Given the description of an element on the screen output the (x, y) to click on. 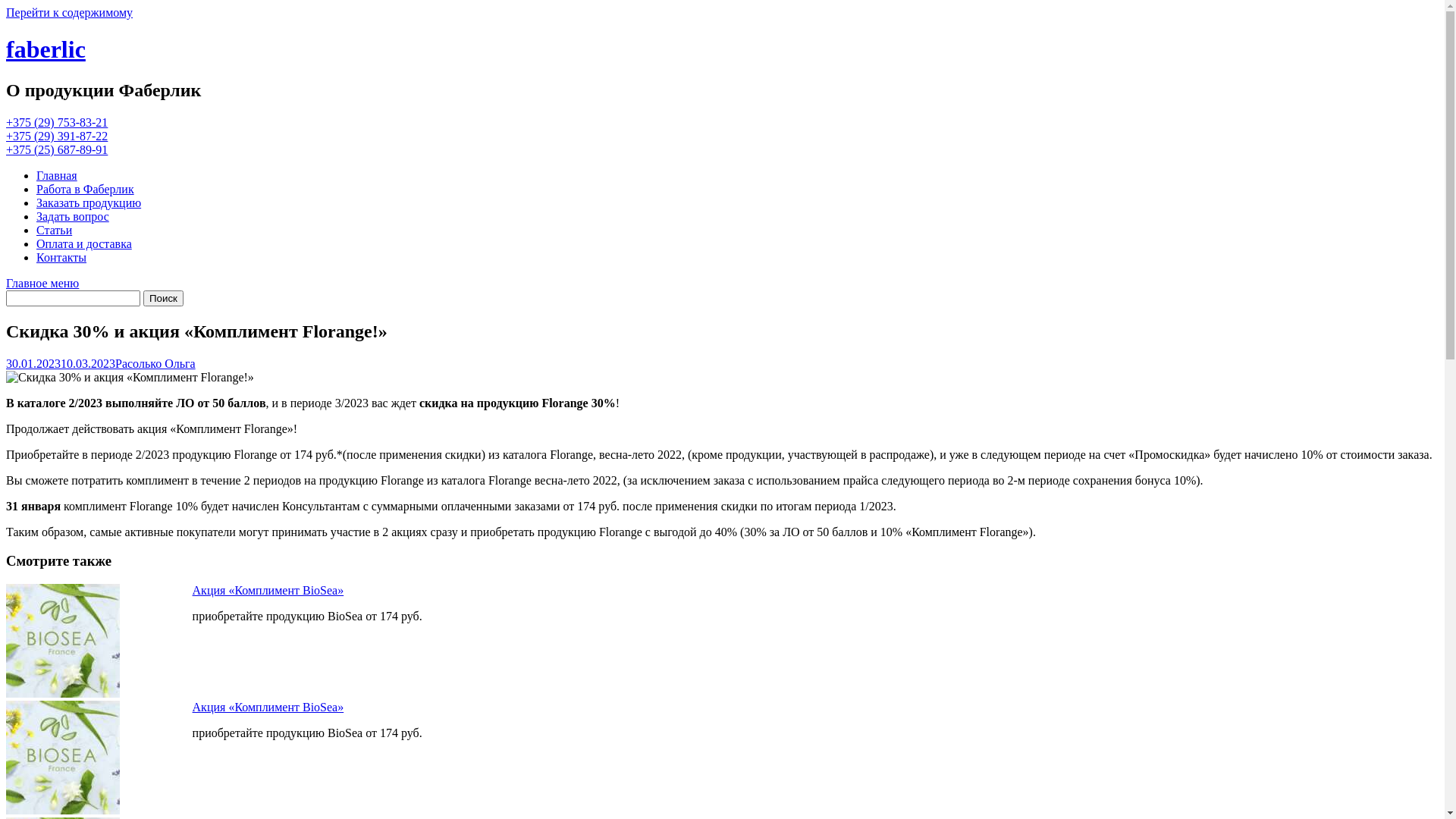
faberlic Element type: text (45, 48)
+375 (29) 753-83-21 Element type: text (56, 122)
+375 (25) 687-89-91 Element type: text (56, 149)
+375 (29) 391-87-22 Element type: text (56, 135)
30.01.202310.03.2023 Element type: text (60, 363)
